Given the description of an element on the screen output the (x, y) to click on. 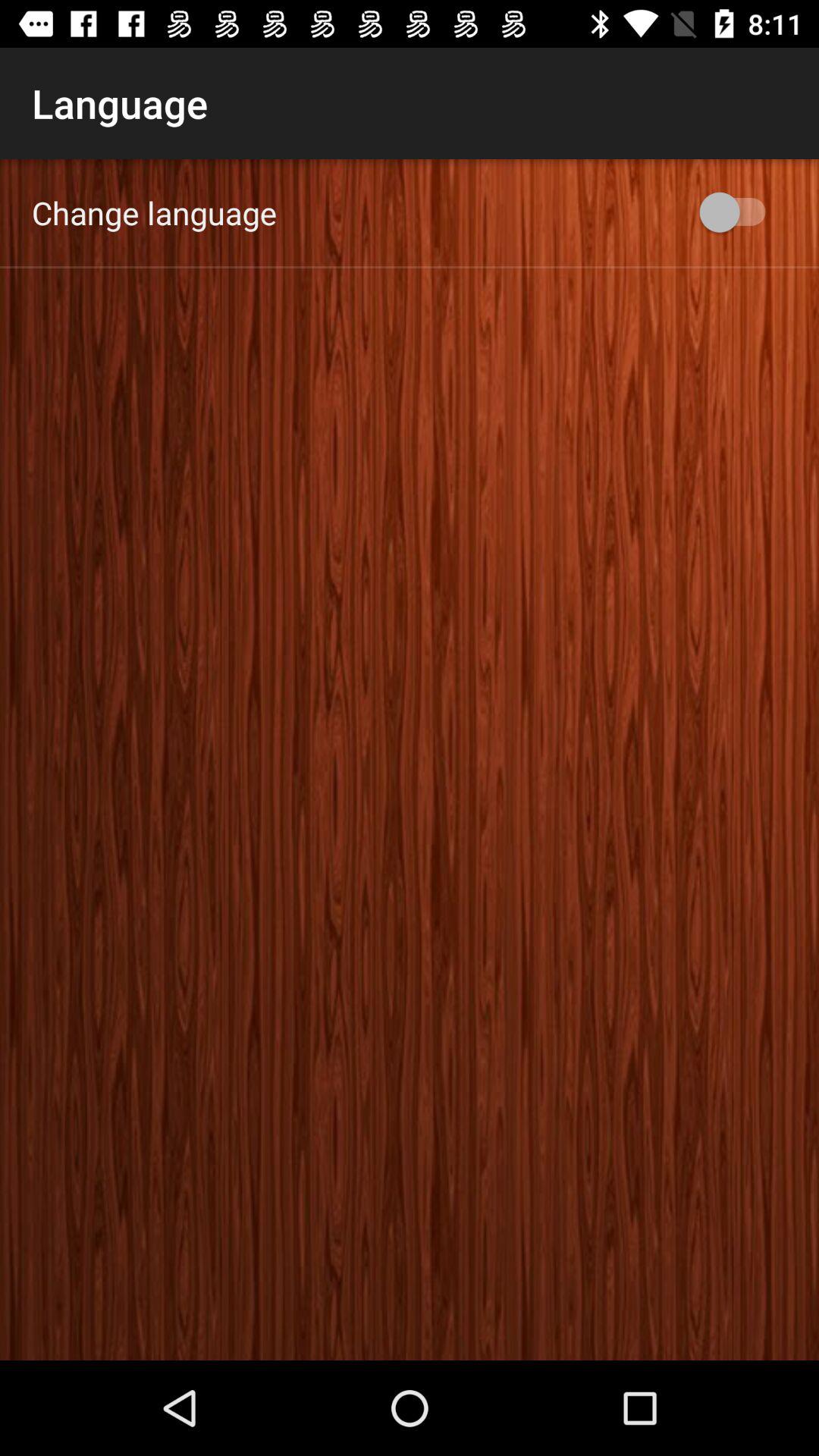
select item below language item (153, 212)
